Given the description of an element on the screen output the (x, y) to click on. 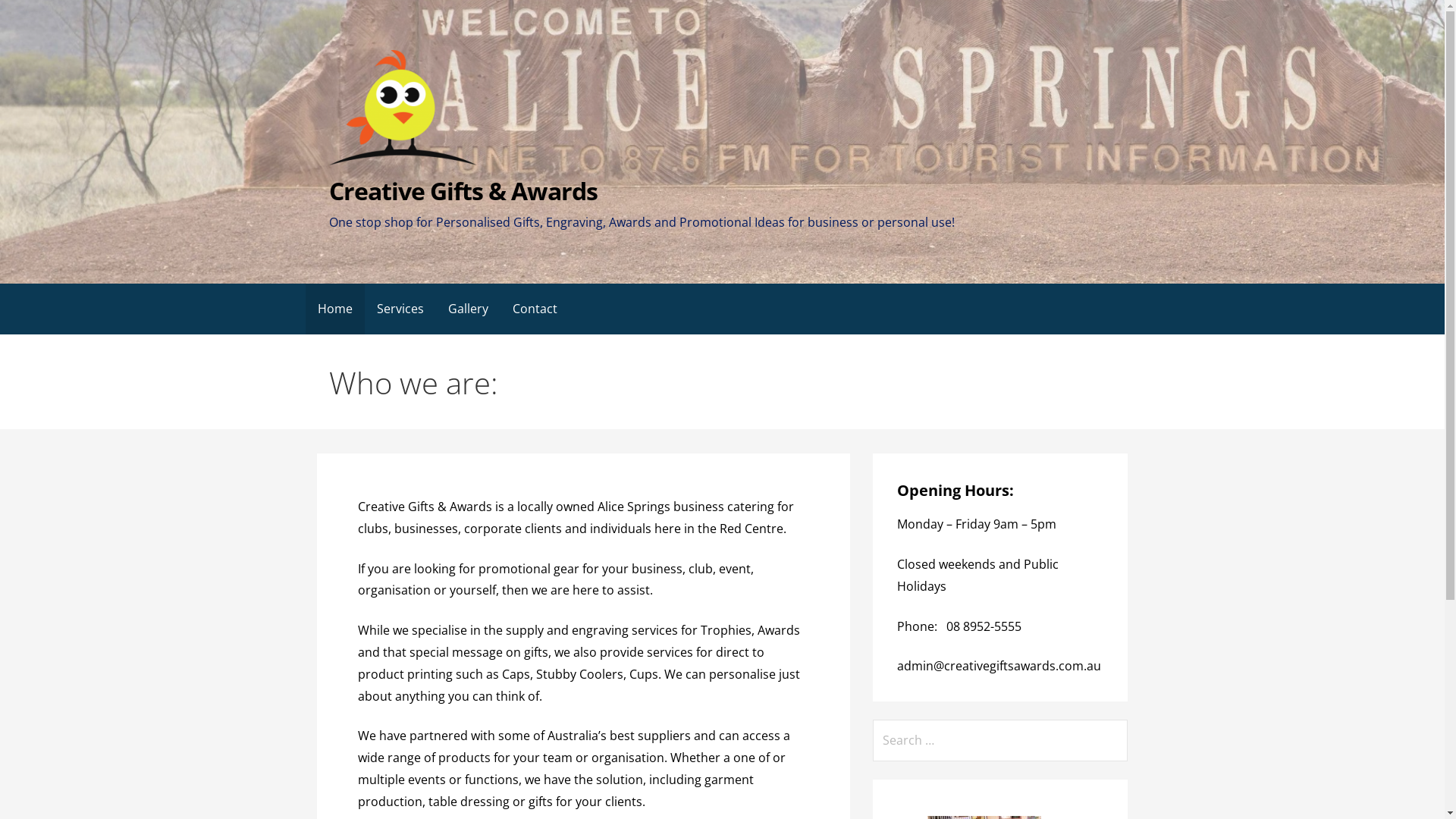
Contact Element type: text (534, 308)
Creative Gifts & Awards Element type: text (463, 190)
Services Element type: text (399, 308)
Search Element type: text (31, 15)
Home Element type: text (334, 308)
Gallery Element type: text (467, 308)
